Given the description of an element on the screen output the (x, y) to click on. 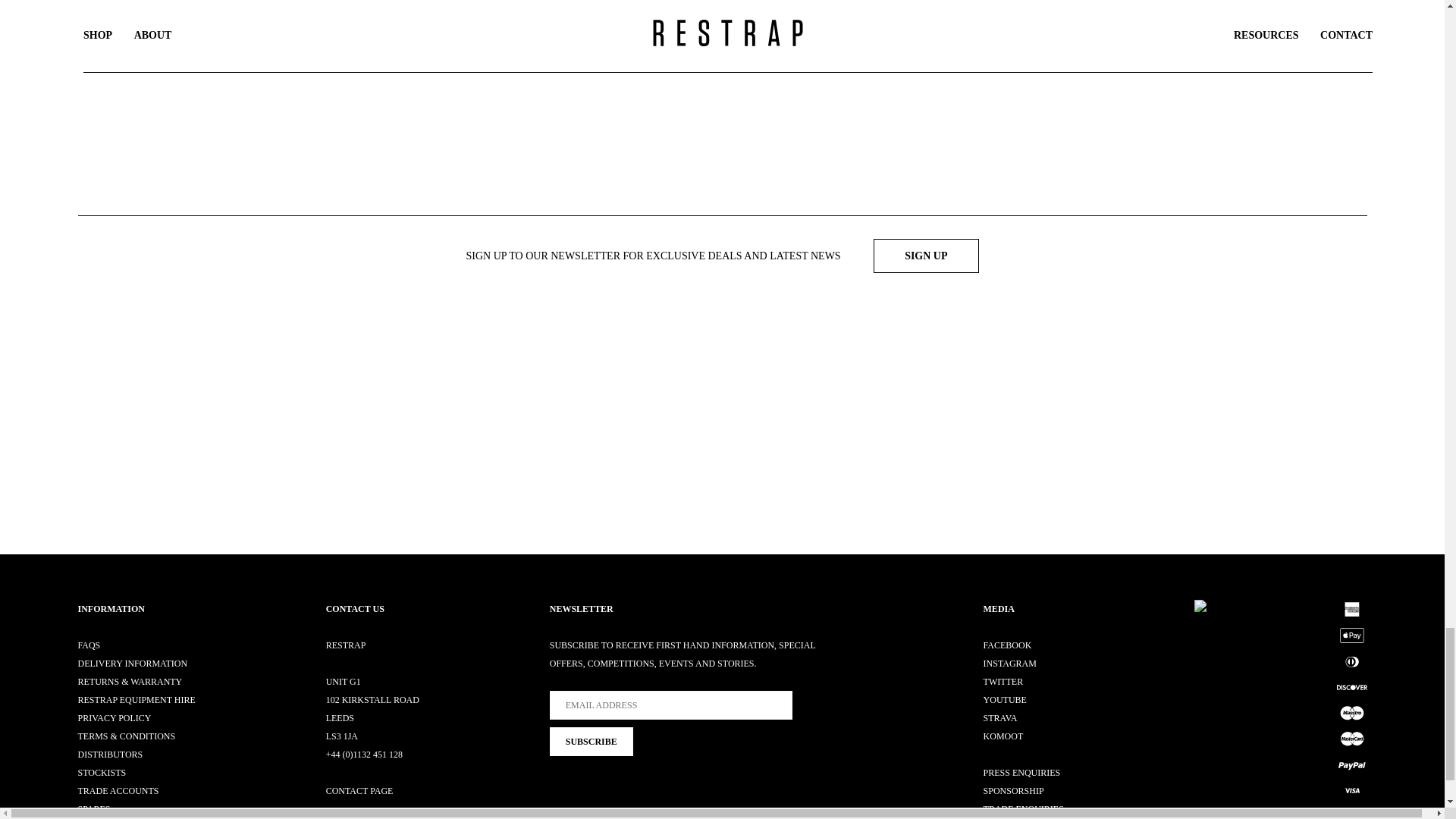
Find a Retail Partner (101, 772)
Privacy Policy (114, 717)
Spares (93, 808)
Returns and Warranty (129, 681)
Frequently Asked Questions (88, 644)
Subscribe (591, 741)
Delivery Information (132, 663)
Distributors (109, 754)
